Given the description of an element on the screen output the (x, y) to click on. 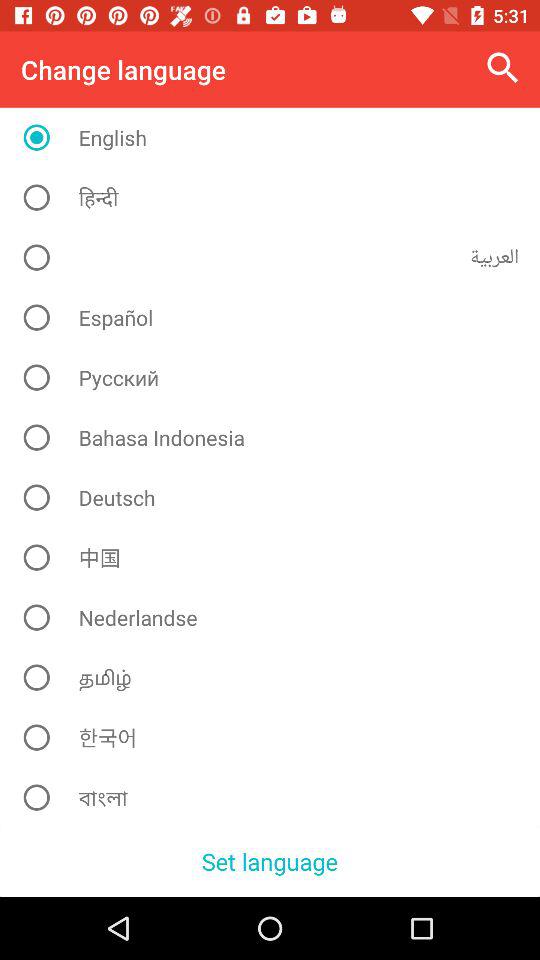
select the second text form the bottom of the page (278, 738)
